Given the description of an element on the screen output the (x, y) to click on. 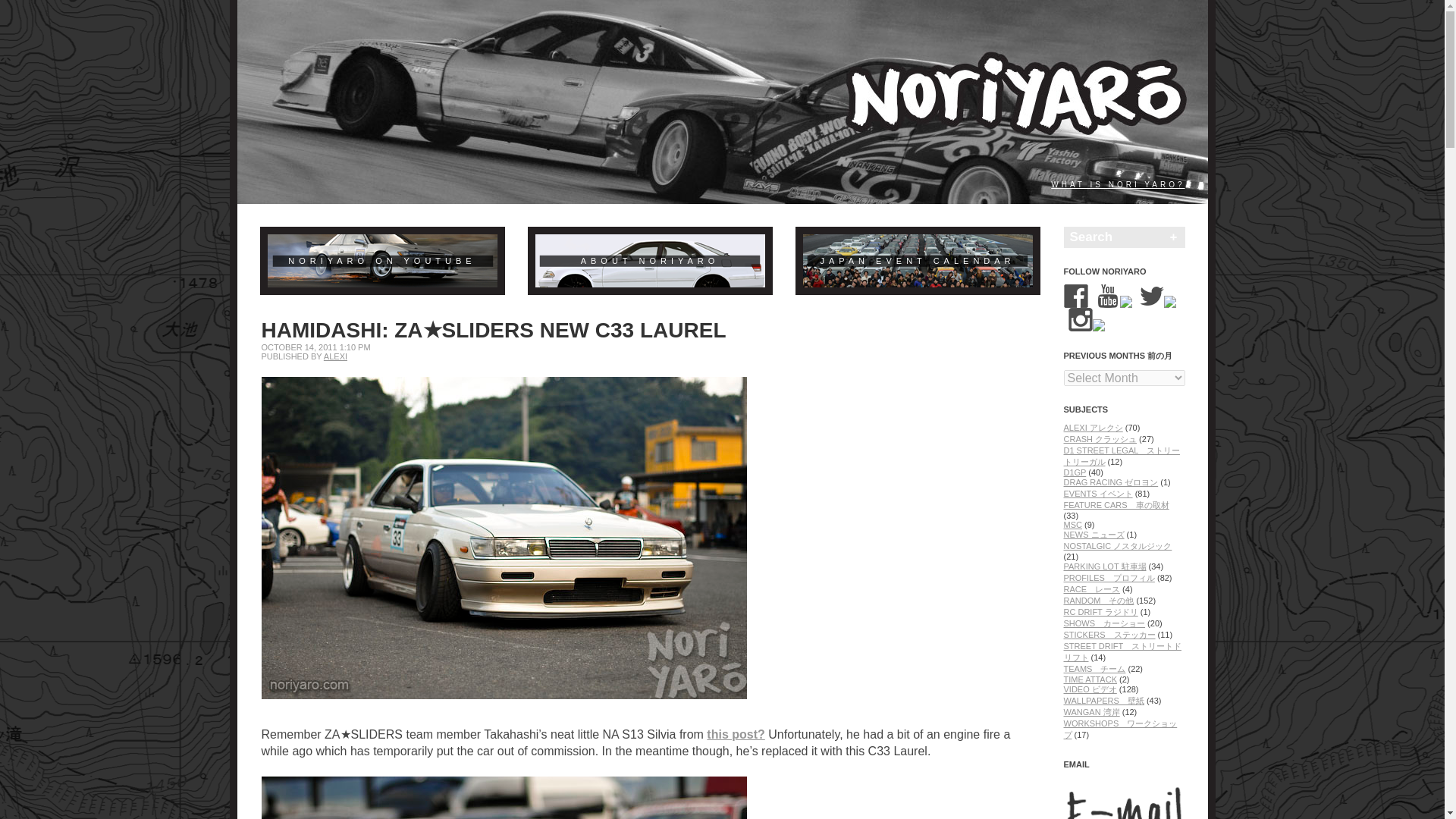
JAPAN EVENT CALENDAR (917, 260)
ABOUT NORIYARO (650, 260)
NORIYARO ON YOUTUBE (381, 260)
Posts by Alexi (335, 356)
this post? (735, 734)
WHAT IS NORI YARO? (1118, 184)
MSC (1071, 524)
ALEXI (335, 356)
D1GP (1074, 471)
